Given the description of an element on the screen output the (x, y) to click on. 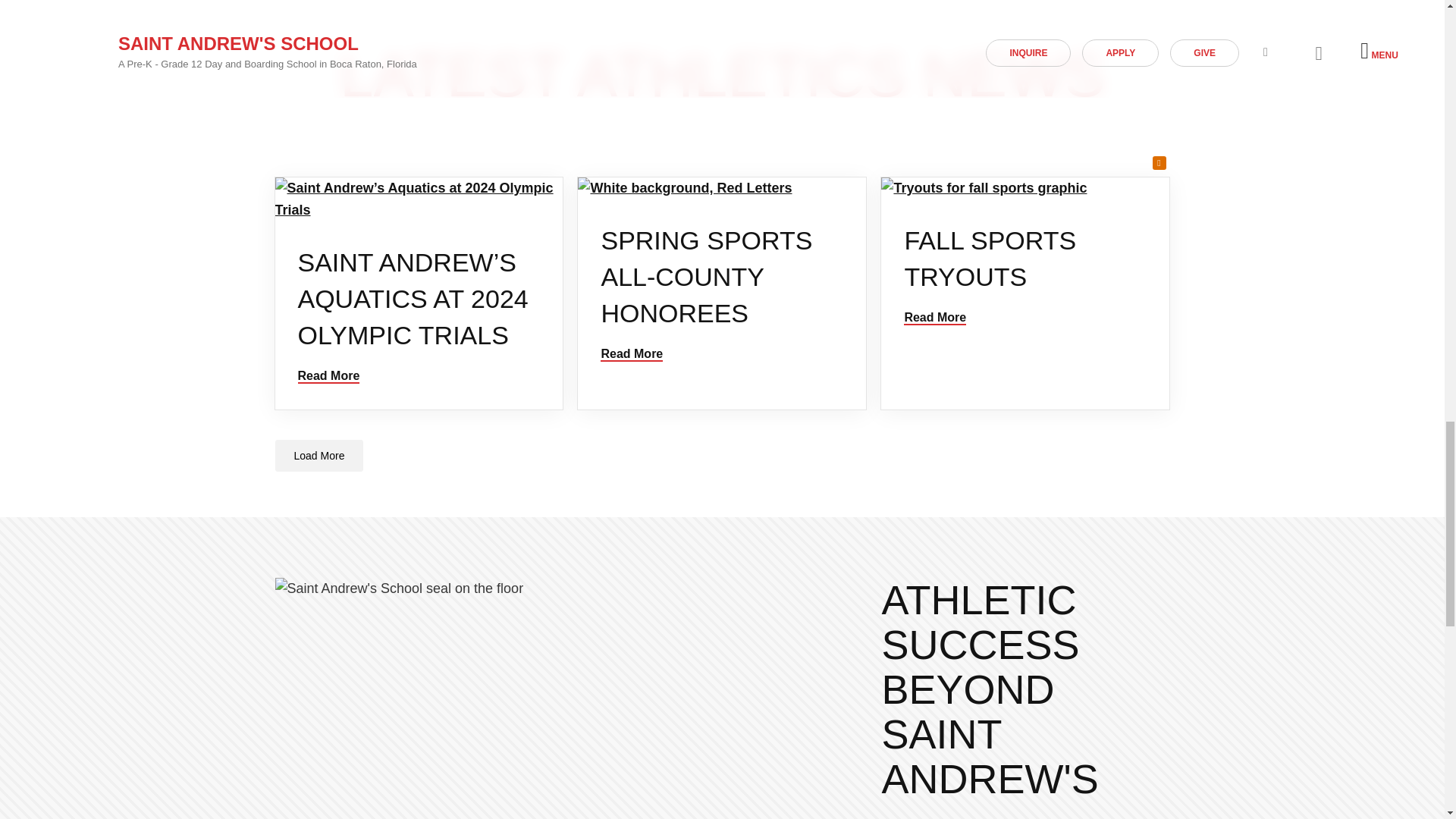
Alerts (1159, 162)
